Given the description of an element on the screen output the (x, y) to click on. 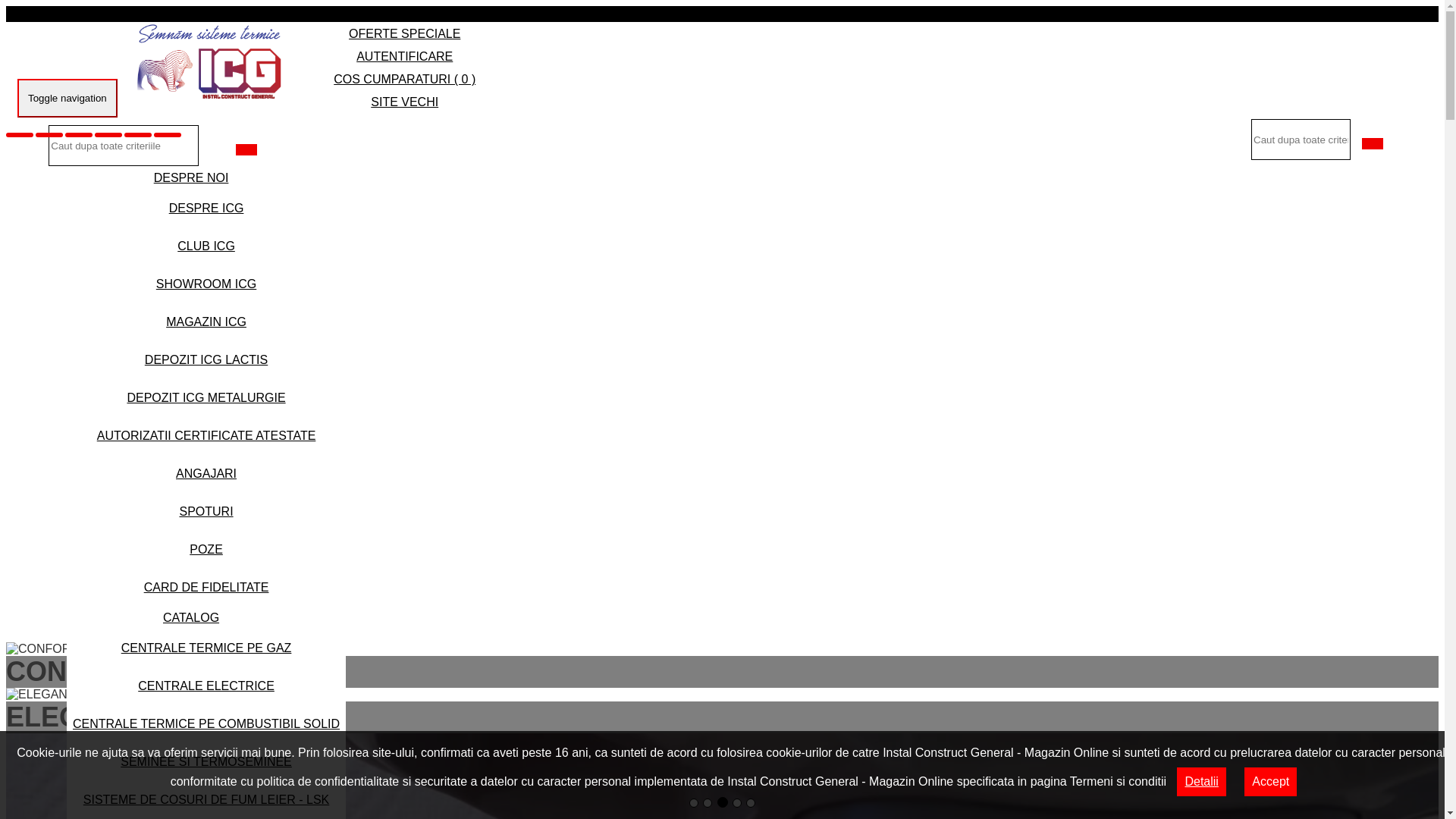
CARD DE FIDELITATE Element type: text (205, 586)
SITE VECHI Element type: text (404, 101)
Toggle navigation Element type: text (67, 97)
SHOWROOM ICG Element type: text (205, 283)
POZE Element type: text (205, 548)
OFERTE SPECIALE Element type: text (404, 32)
DEPOZIT ICG LACTIS Element type: text (205, 359)
CENTRALE TERMICE PE GAZ Element type: text (205, 647)
AUTORIZATII CERTIFICATE ATESTATE Element type: text (205, 435)
AUTENTIFICARE Element type: text (404, 55)
SISTEME DE COSURI DE FUM LEIER - LSK Element type: text (205, 799)
ANGAJARI Element type: text (205, 473)
DEPOZIT ICG METALURGIE Element type: text (205, 397)
Accept Element type: text (1270, 781)
CENTRALE TERMICE PE COMBUSTIBIL SOLID Element type: text (205, 723)
CATALOG Element type: text (190, 616)
Detalii Element type: text (1200, 781)
CLUB ICG Element type: text (205, 245)
SEMINEE SI TERMOSEMINEE Element type: text (205, 761)
CENTRALE ELECTRICE Element type: text (205, 685)
COS CUMPARATURI ( 0 ) Element type: text (404, 78)
DESPRE ICG Element type: text (205, 207)
DESPRE NOI Element type: text (190, 177)
MAGAZIN ICG Element type: text (205, 321)
SPOTURI Element type: text (205, 511)
